Given the description of an element on the screen output the (x, y) to click on. 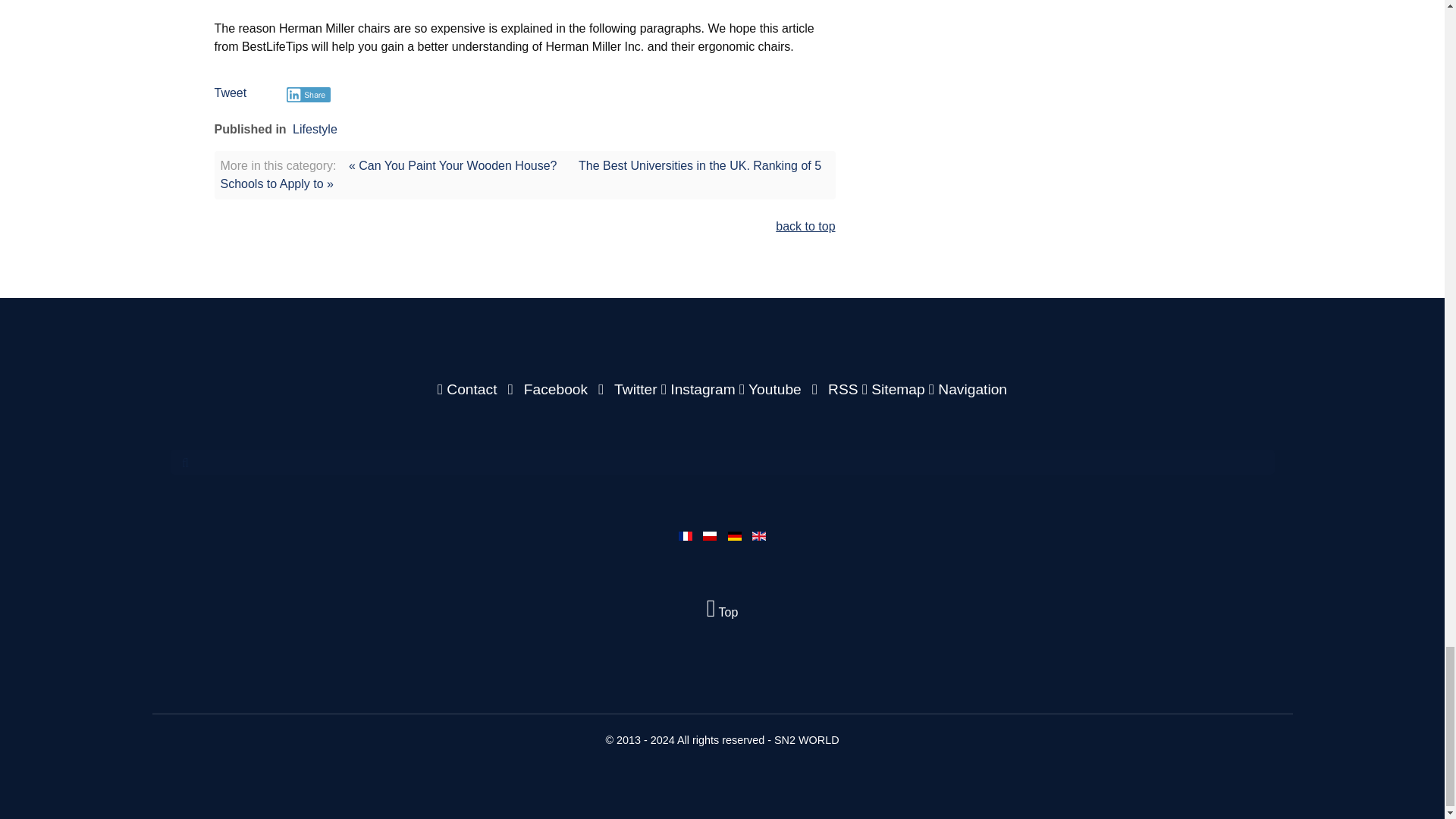
Navigation (967, 389)
Contact (469, 389)
RSS (833, 389)
Polski (709, 535)
Lifestyle (314, 128)
Youtube (772, 389)
Twitter (626, 389)
back to top (805, 226)
Sitemap (894, 389)
Share (308, 94)
Instagram (700, 389)
Facebook (546, 389)
Contact (469, 389)
Tweet (230, 92)
